Given the description of an element on the screen output the (x, y) to click on. 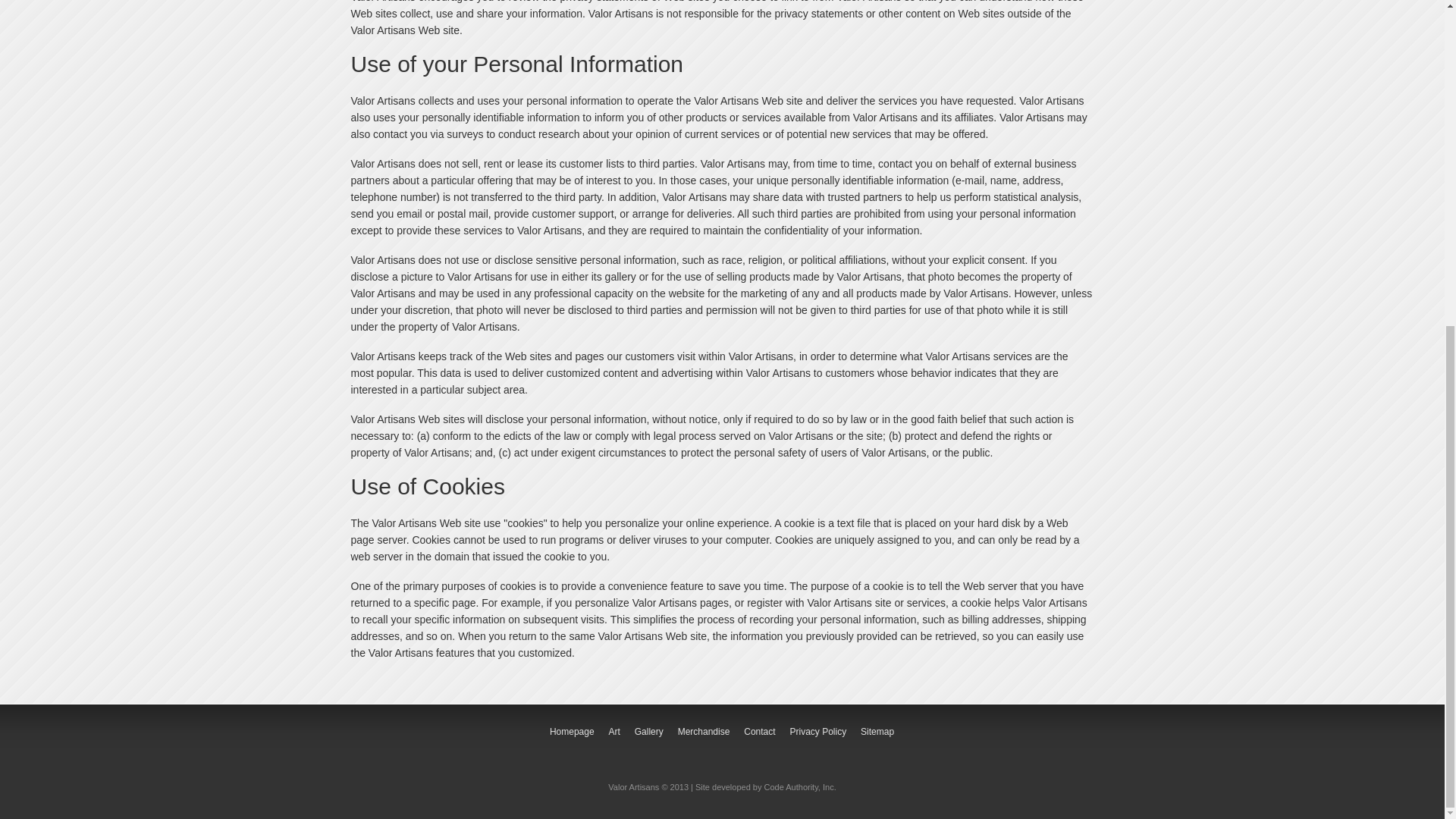
Contact (759, 731)
Privacy Policy (817, 731)
Gallery (648, 731)
Art (614, 731)
Frisco Website Design (799, 786)
Code Authority, Inc. (799, 786)
Merchandise (704, 731)
Sitemap (876, 731)
Homepage (572, 731)
